Given the description of an element on the screen output the (x, y) to click on. 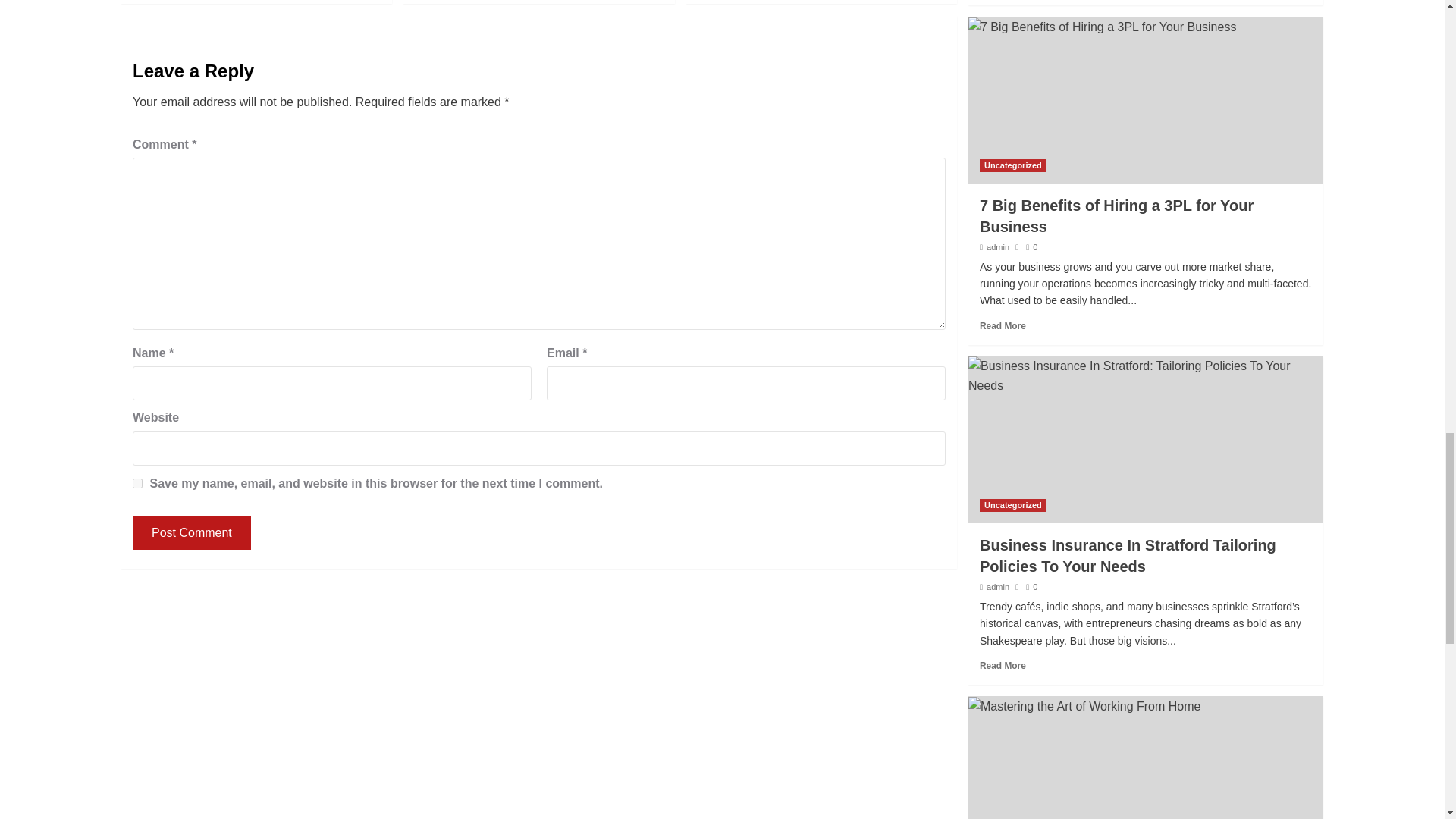
Post Comment (191, 532)
yes (137, 483)
